Given the description of an element on the screen output the (x, y) to click on. 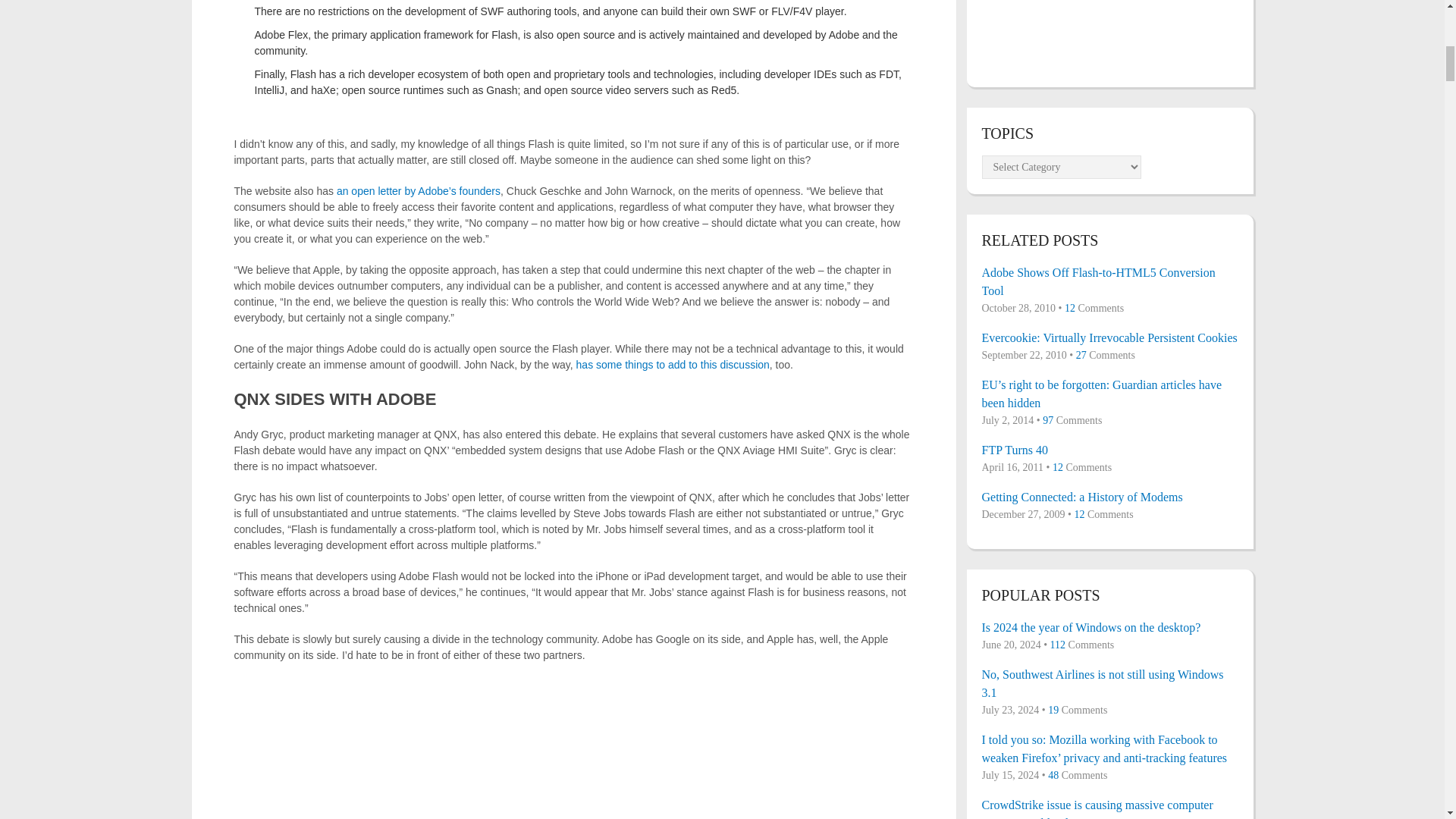
has some things to add to this discussion (673, 364)
